Given the description of an element on the screen output the (x, y) to click on. 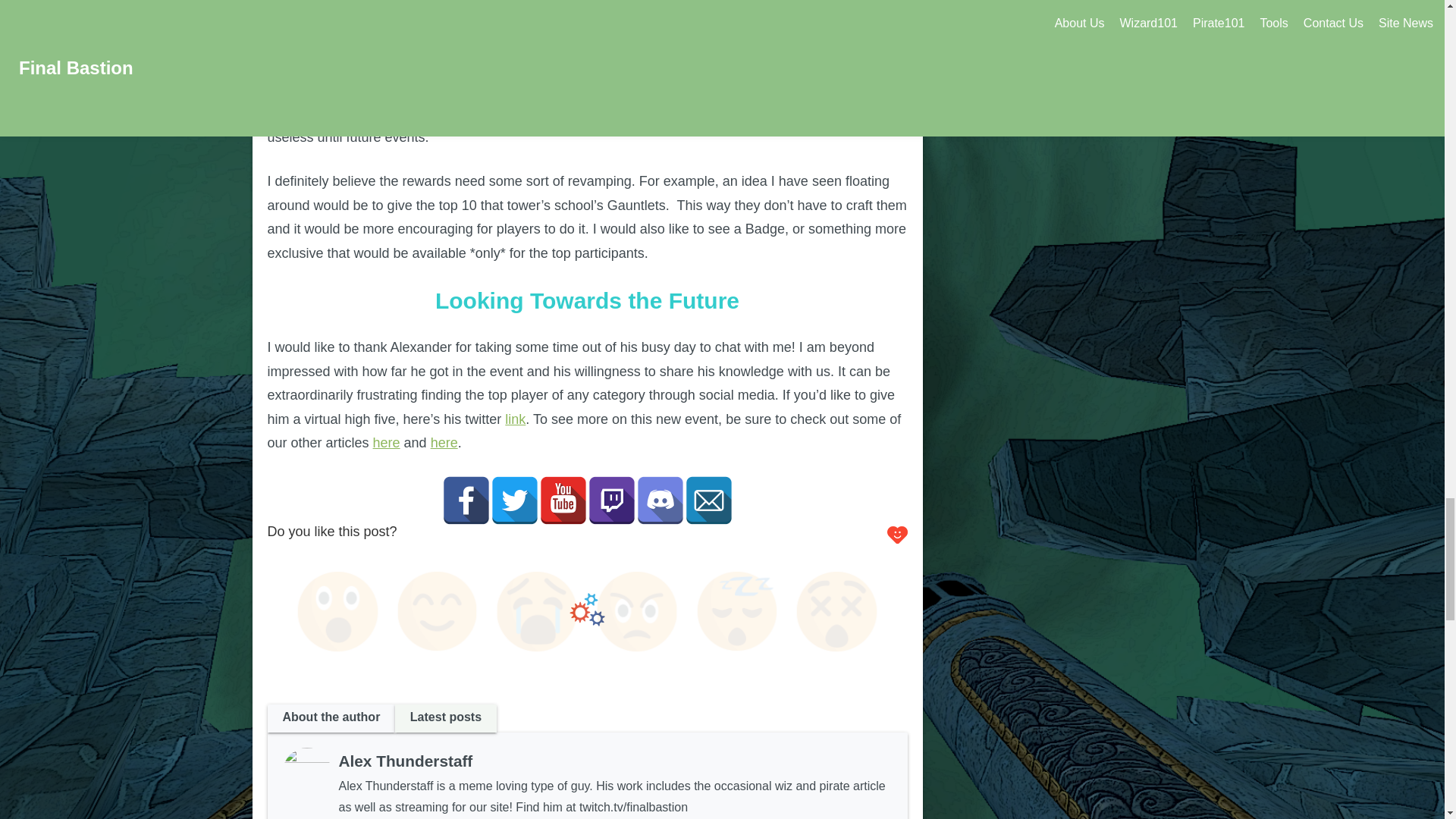
Twitter (513, 499)
Email (708, 499)
Twitch (610, 499)
Facebook (465, 499)
YouTube (562, 499)
Discord (659, 499)
